Given the description of an element on the screen output the (x, y) to click on. 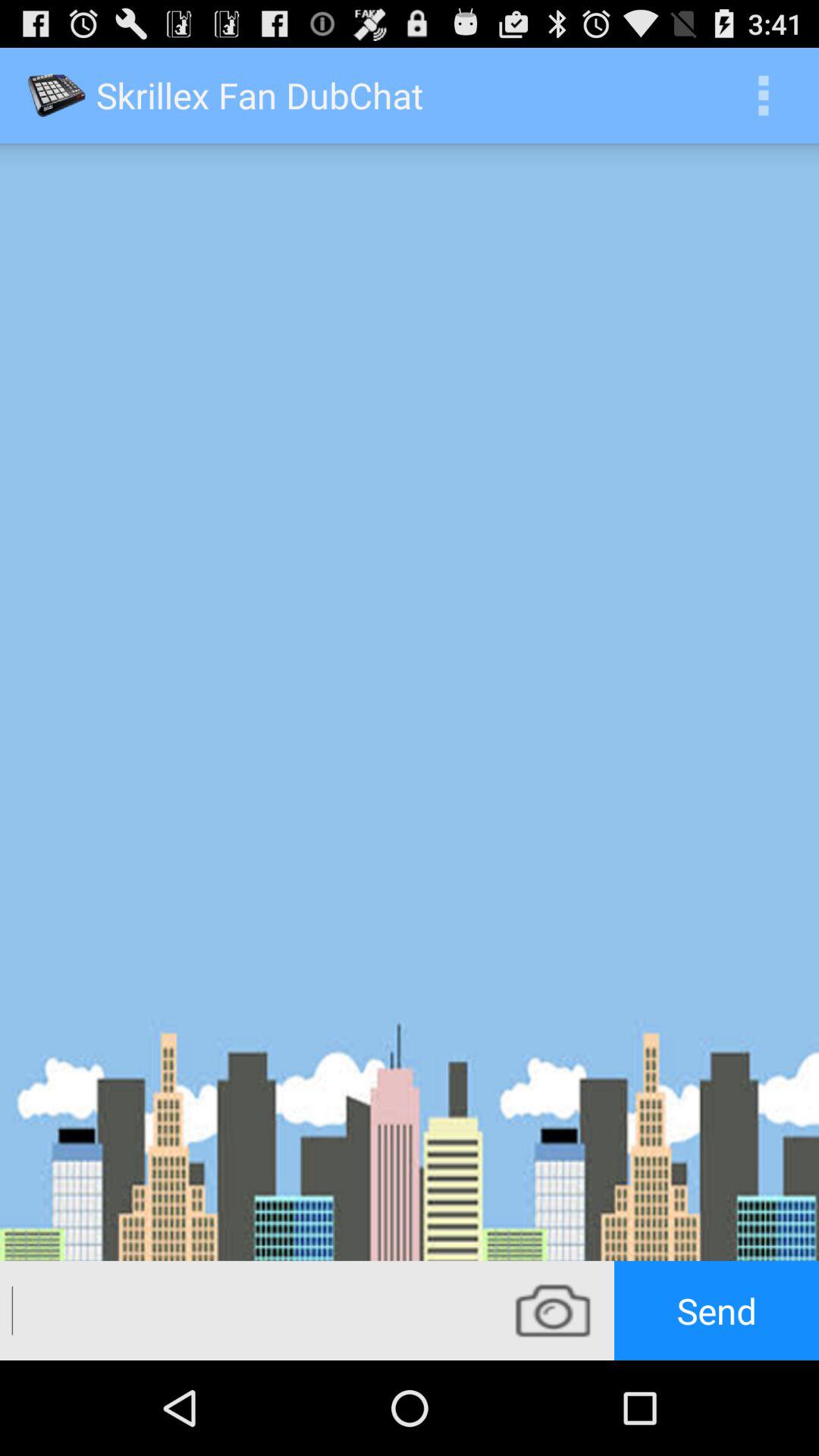
insert message (245, 1310)
